Given the description of an element on the screen output the (x, y) to click on. 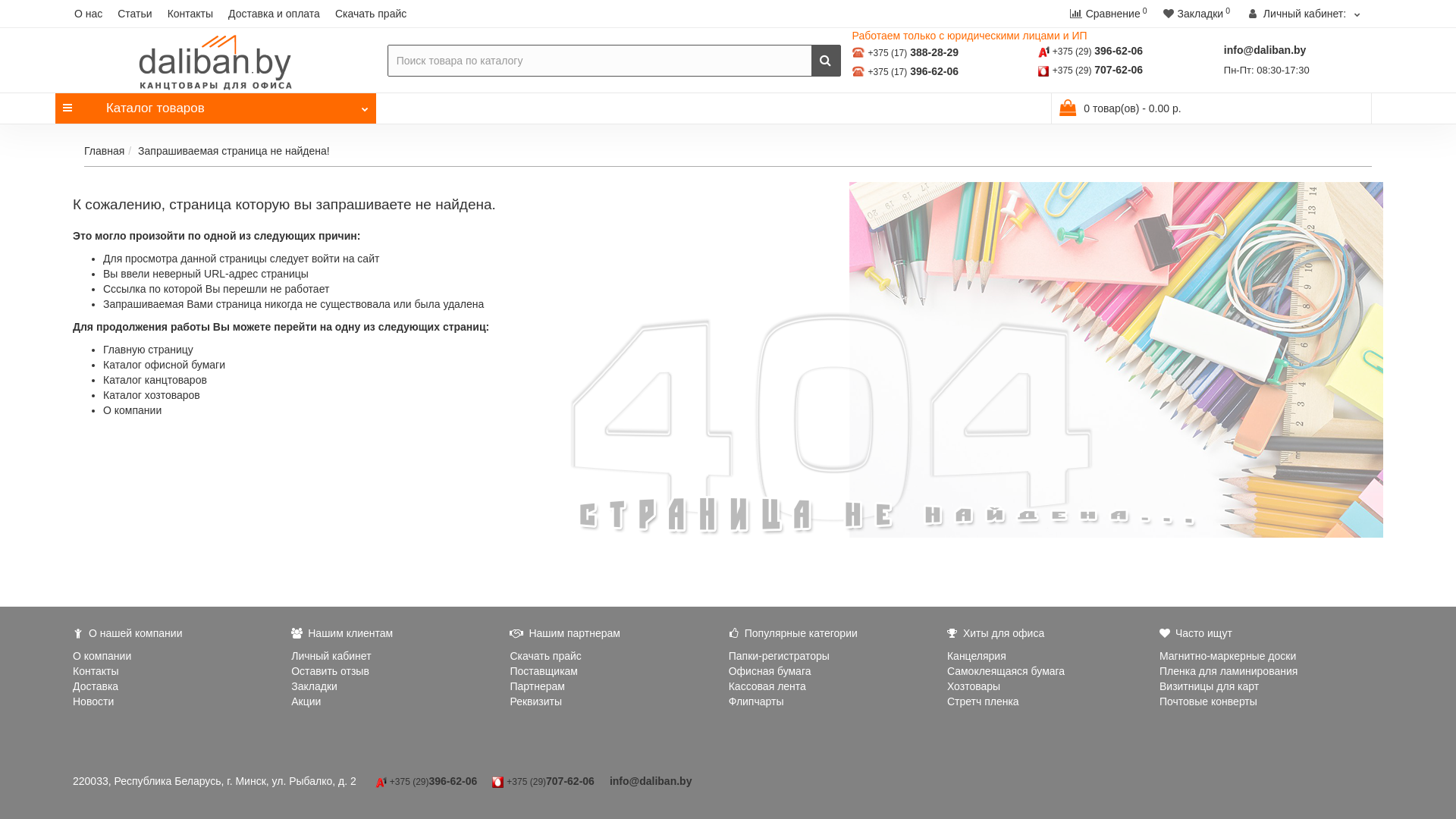
396-62-06 Element type: text (453, 781)
707-62-06 Element type: text (570, 781)
info@daliban.by Element type: text (650, 781)
info@daliban.by Element type: text (1264, 49)
396-62-06 Element type: text (934, 71)
388-28-29 Element type: text (934, 52)
396-62-06 Element type: text (1118, 50)
707-62-06 Element type: text (1118, 69)
